Given the description of an element on the screen output the (x, y) to click on. 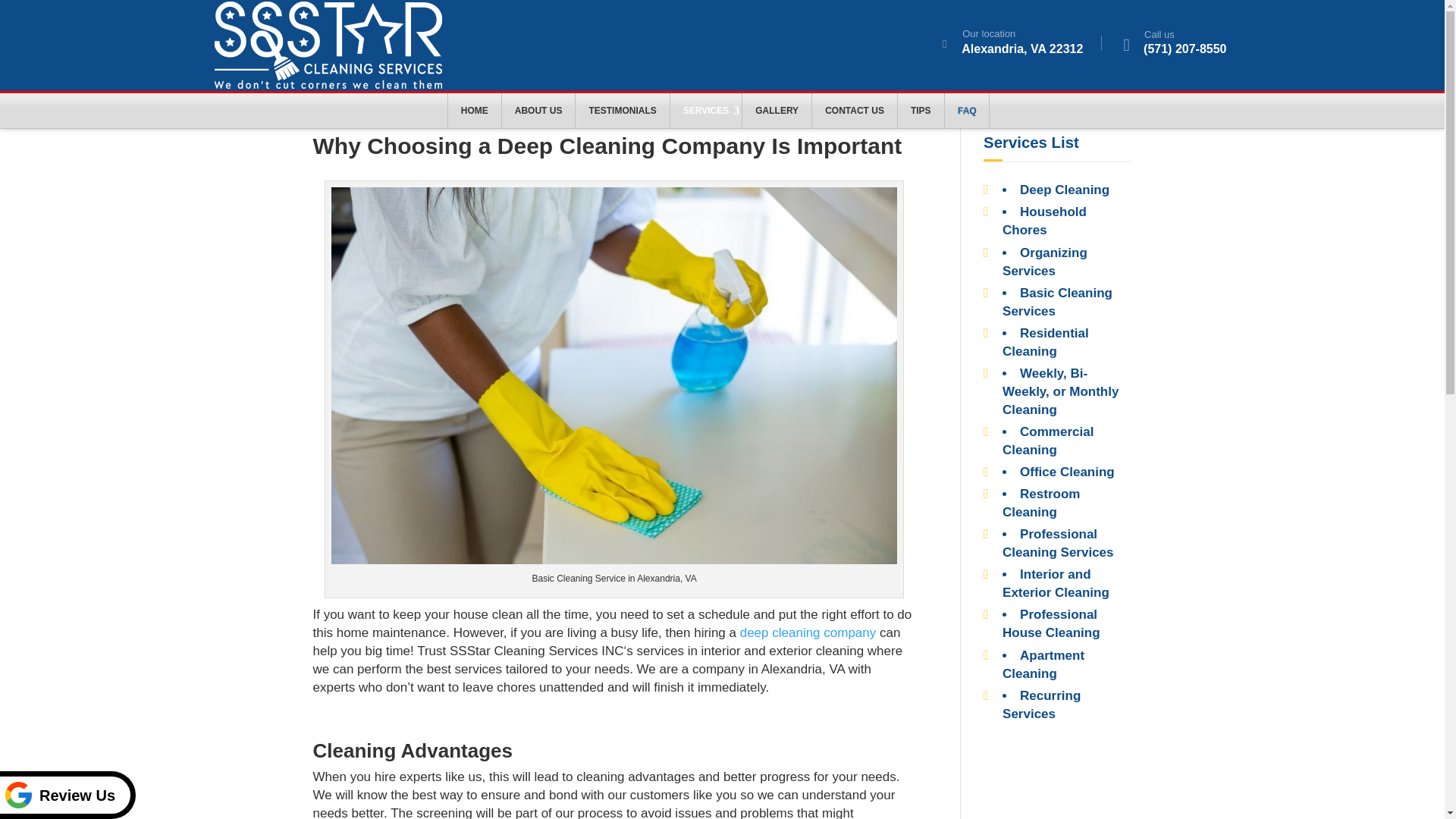
Deep Cleaning Company Alexandria VA (807, 632)
TIPS (920, 110)
TESTIMONIALS (621, 110)
CONTACT US (854, 110)
FAQ (967, 110)
ABOUT US (538, 110)
GALLERY (776, 110)
HOME (474, 110)
SERVICES (705, 110)
